Given the description of an element on the screen output the (x, y) to click on. 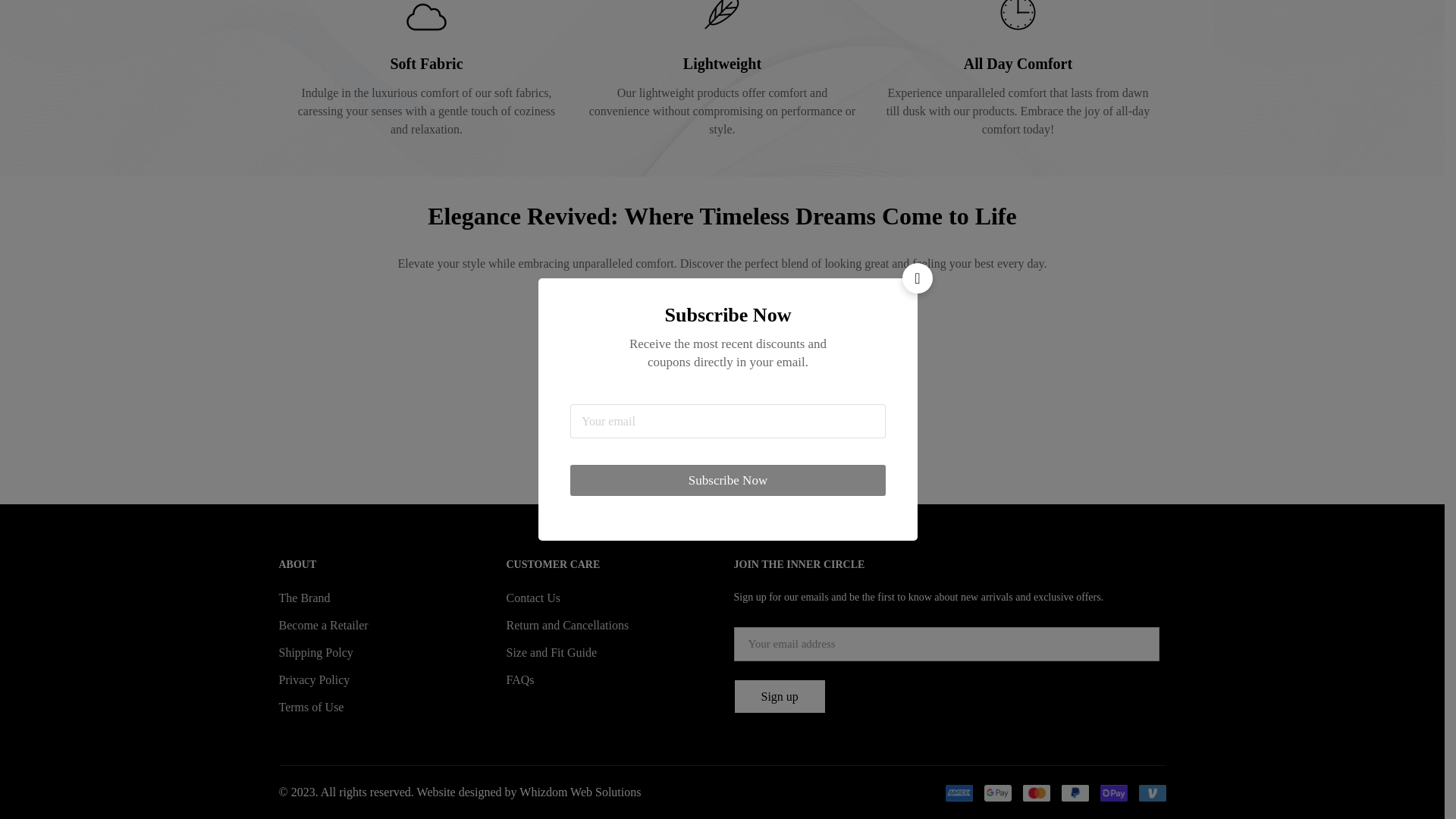
Sign up (779, 696)
